Given the description of an element on the screen output the (x, y) to click on. 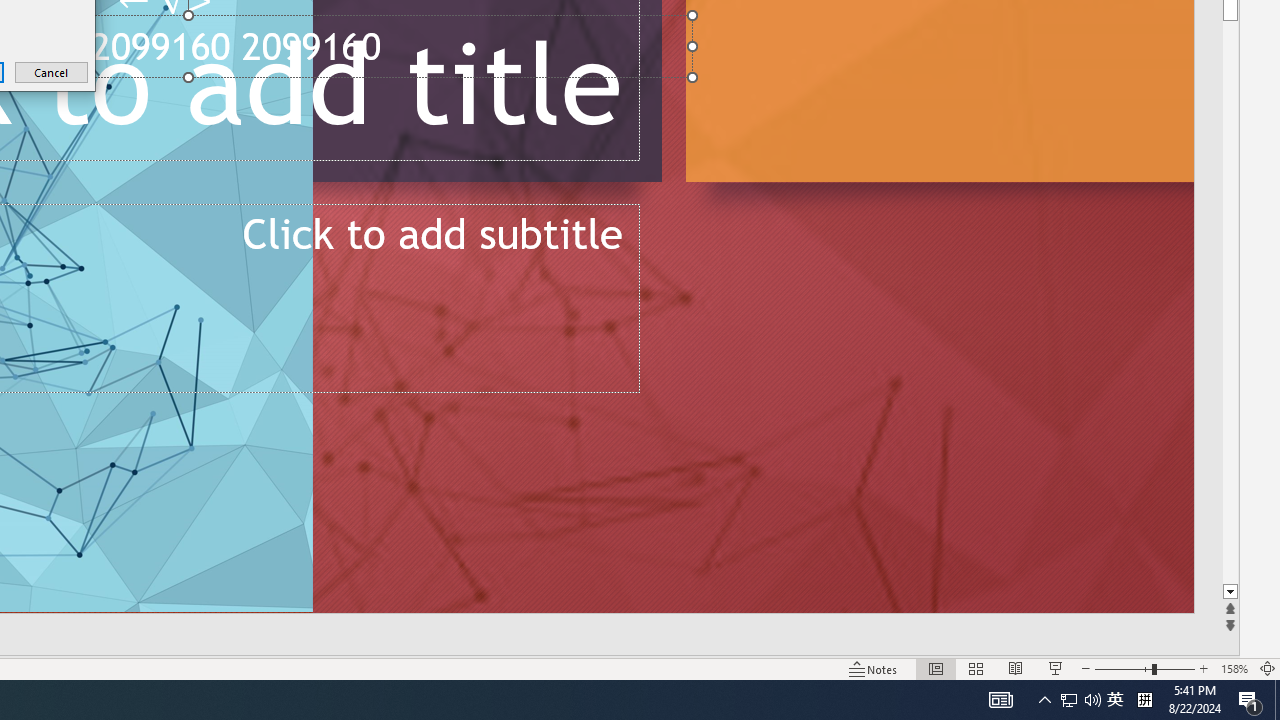
Zoom 158% (1234, 668)
